Given the description of an element on the screen output the (x, y) to click on. 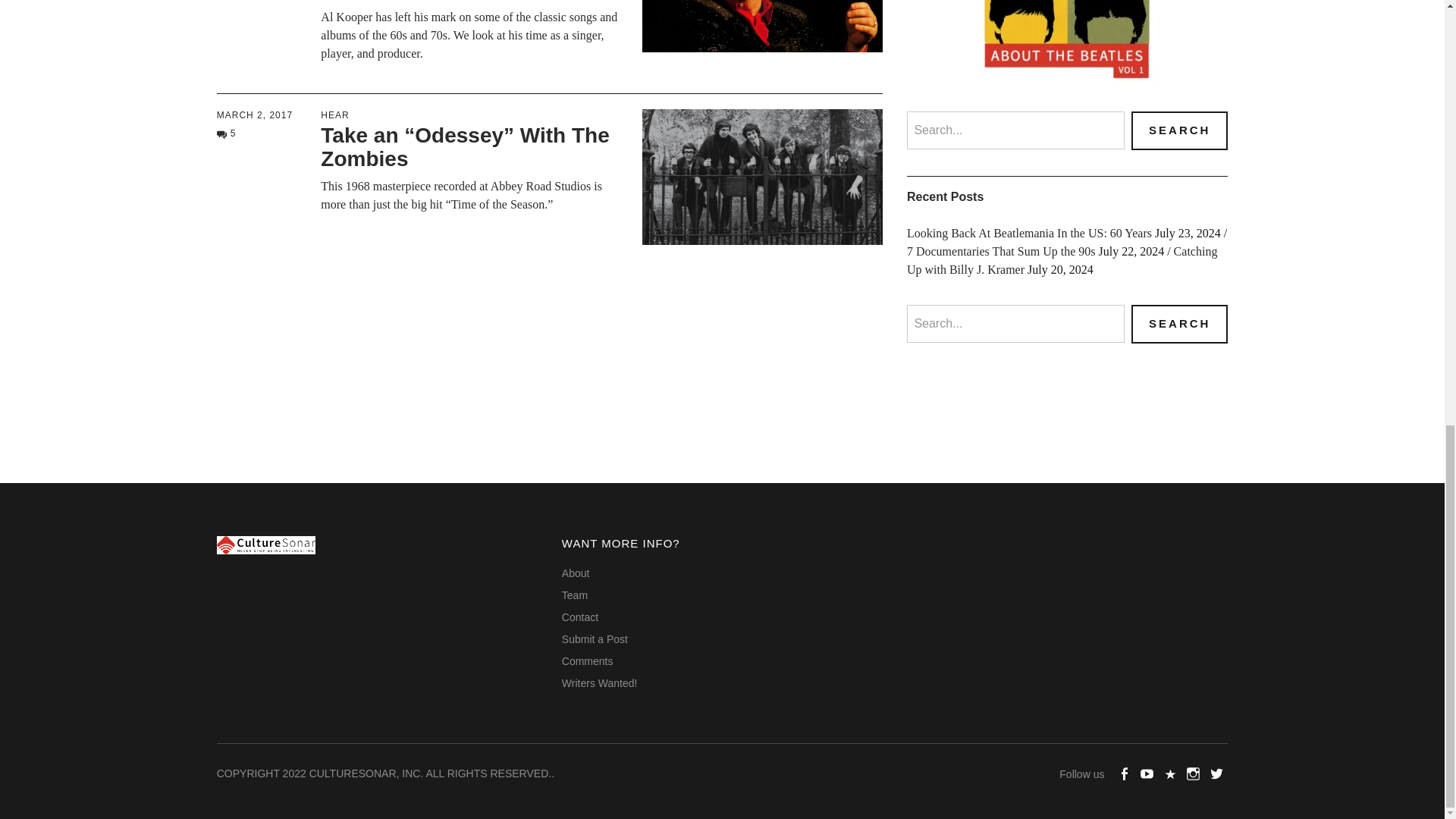
Search (1179, 130)
Search (1179, 323)
